Given the description of an element on the screen output the (x, y) to click on. 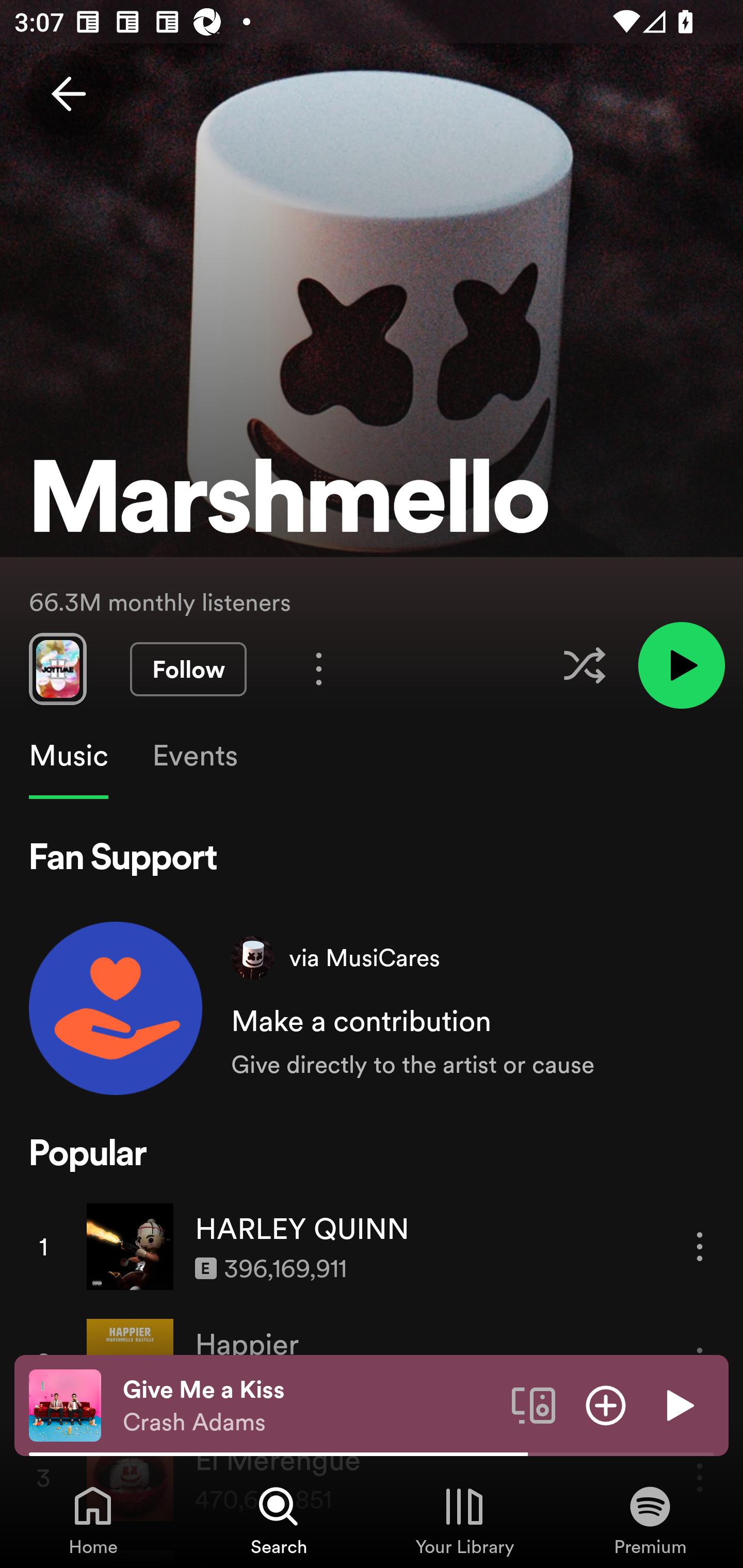
Back (68, 93)
Play artist (681, 664)
Enable shuffle for this artist (583, 665)
Swipe through previews of tracks from this artist. (57, 668)
More options for artist Marshmello (318, 668)
Follow (188, 669)
Events (194, 755)
More options for song HARLEY QUINN (699, 1246)
Give Me a Kiss Crash Adams (309, 1405)
The cover art of the currently playing track (64, 1404)
Connect to a device. Opens the devices menu (533, 1404)
Add item (605, 1404)
Play (677, 1404)
Home, Tab 1 of 4 Home Home (92, 1519)
Search, Tab 2 of 4 Search Search (278, 1519)
Your Library, Tab 3 of 4 Your Library Your Library (464, 1519)
Premium, Tab 4 of 4 Premium Premium (650, 1519)
